Given the description of an element on the screen output the (x, y) to click on. 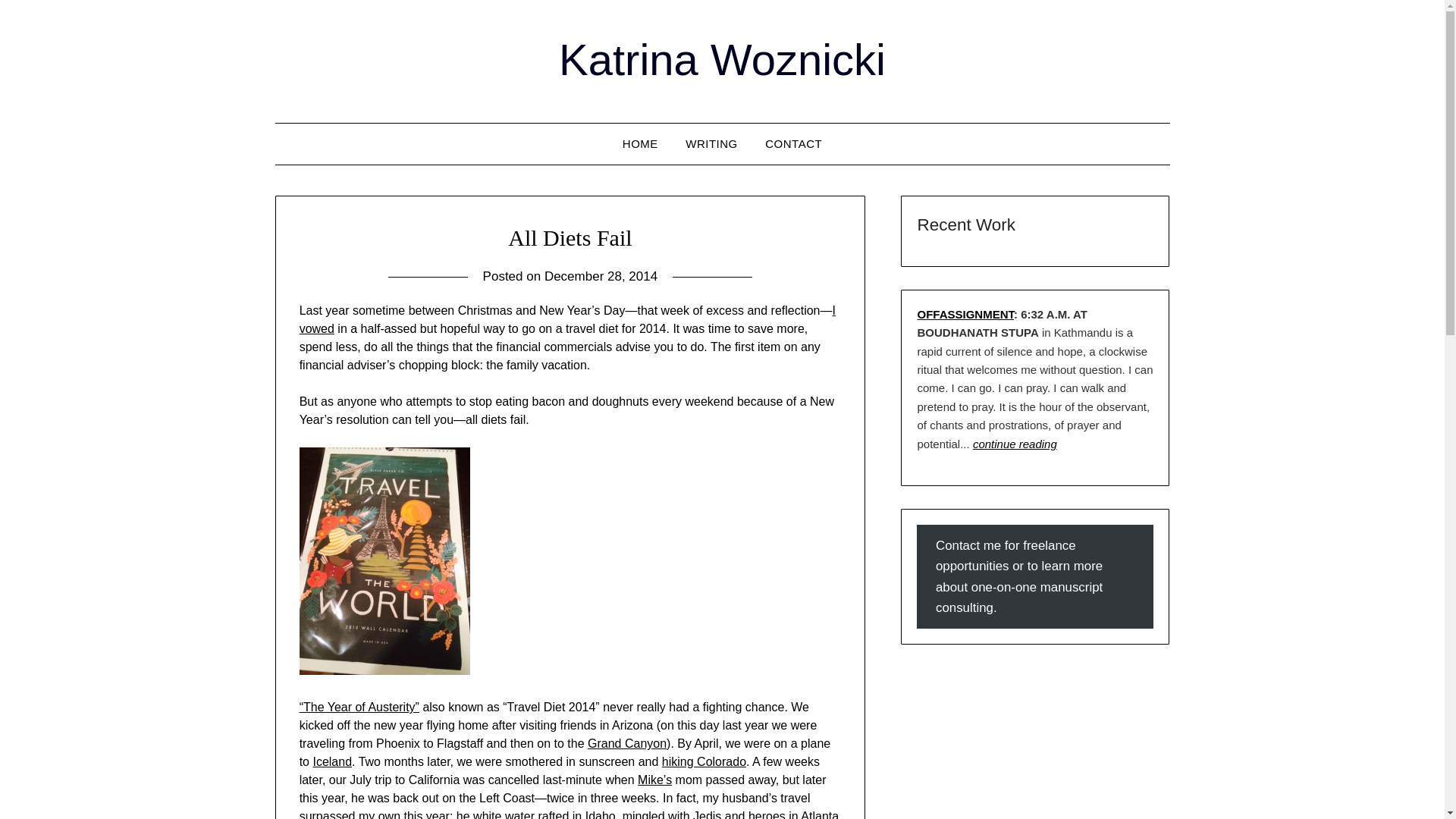
Katrina Woznicki (722, 59)
December 28, 2014 (601, 276)
OFFASSIGNMENT (965, 314)
CONTACT (793, 143)
I vowed (567, 318)
Iceland (332, 761)
Grand Canyon (627, 743)
hiking Colorado (703, 761)
Katrina Communications (639, 143)
